Given the description of an element on the screen output the (x, y) to click on. 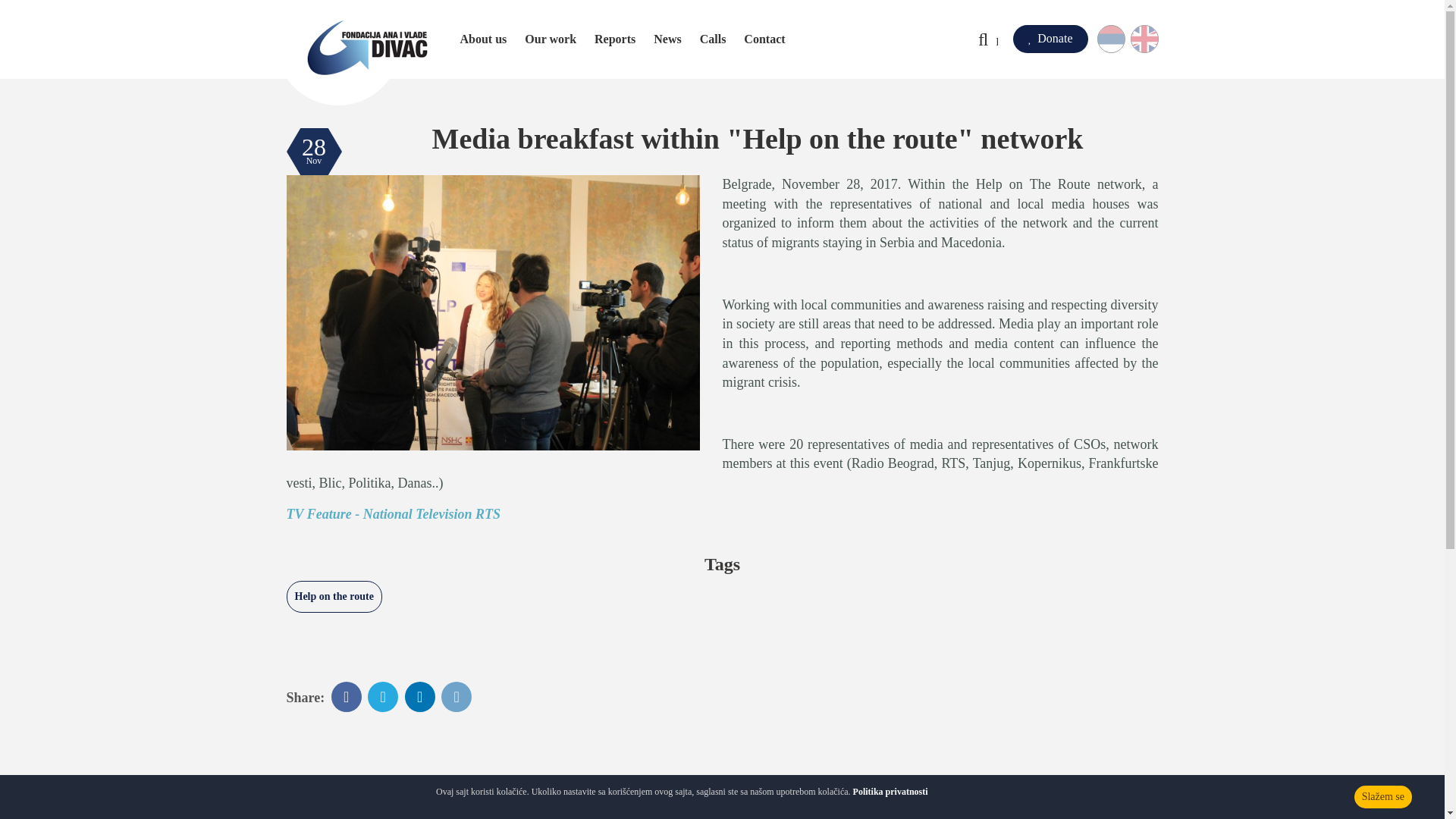
srb (1117, 39)
Our work (549, 39)
Help on the route (333, 596)
Home (360, 52)
About us (483, 39)
Reports (614, 39)
Calls (713, 39)
eng (1138, 39)
Srpski (1117, 39)
Contact (764, 39)
Our work (549, 39)
Reports (614, 39)
News (666, 39)
Donate (1050, 39)
About us (483, 39)
